Given the description of an element on the screen output the (x, y) to click on. 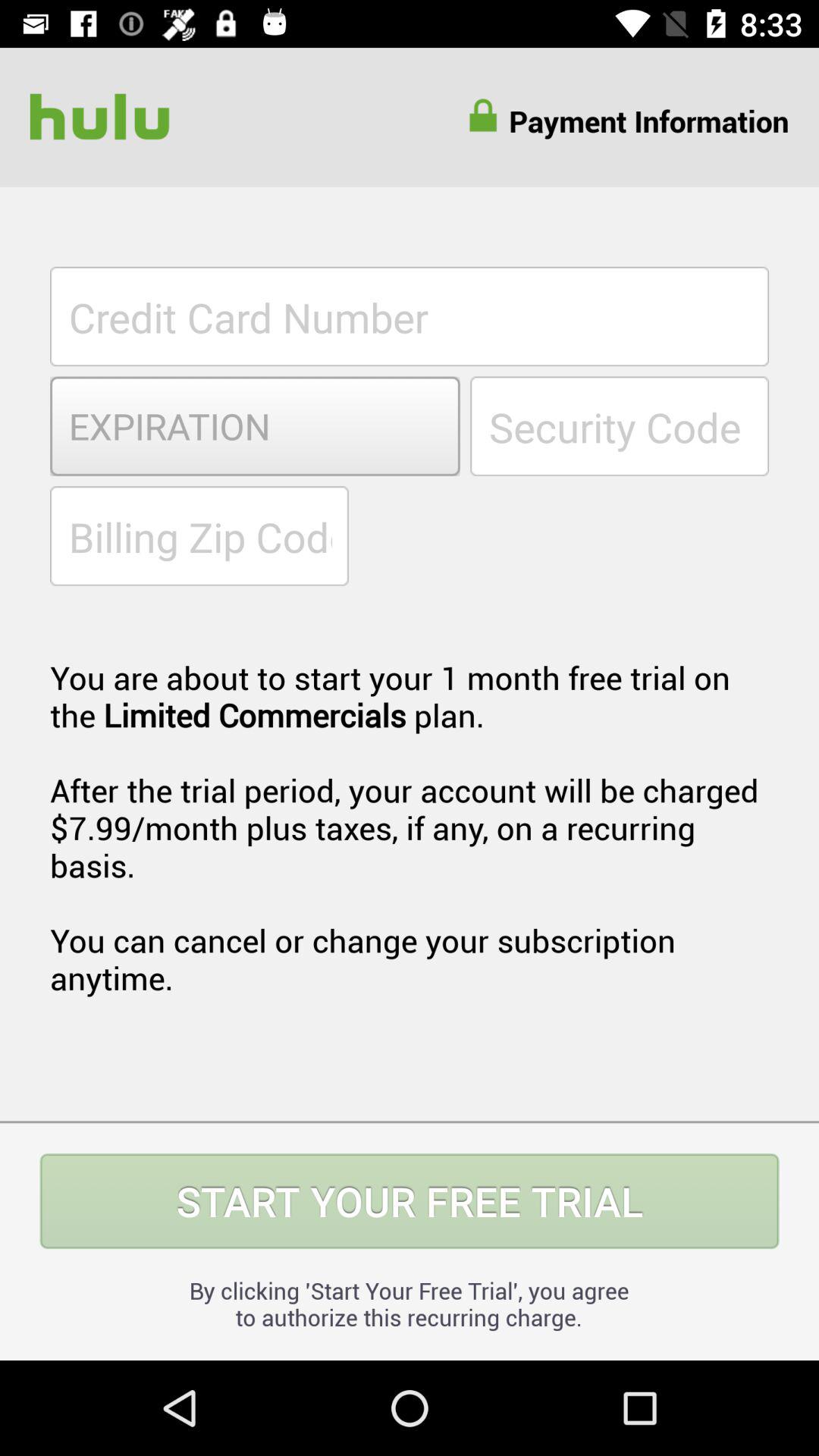
input card security code (619, 426)
